Given the description of an element on the screen output the (x, y) to click on. 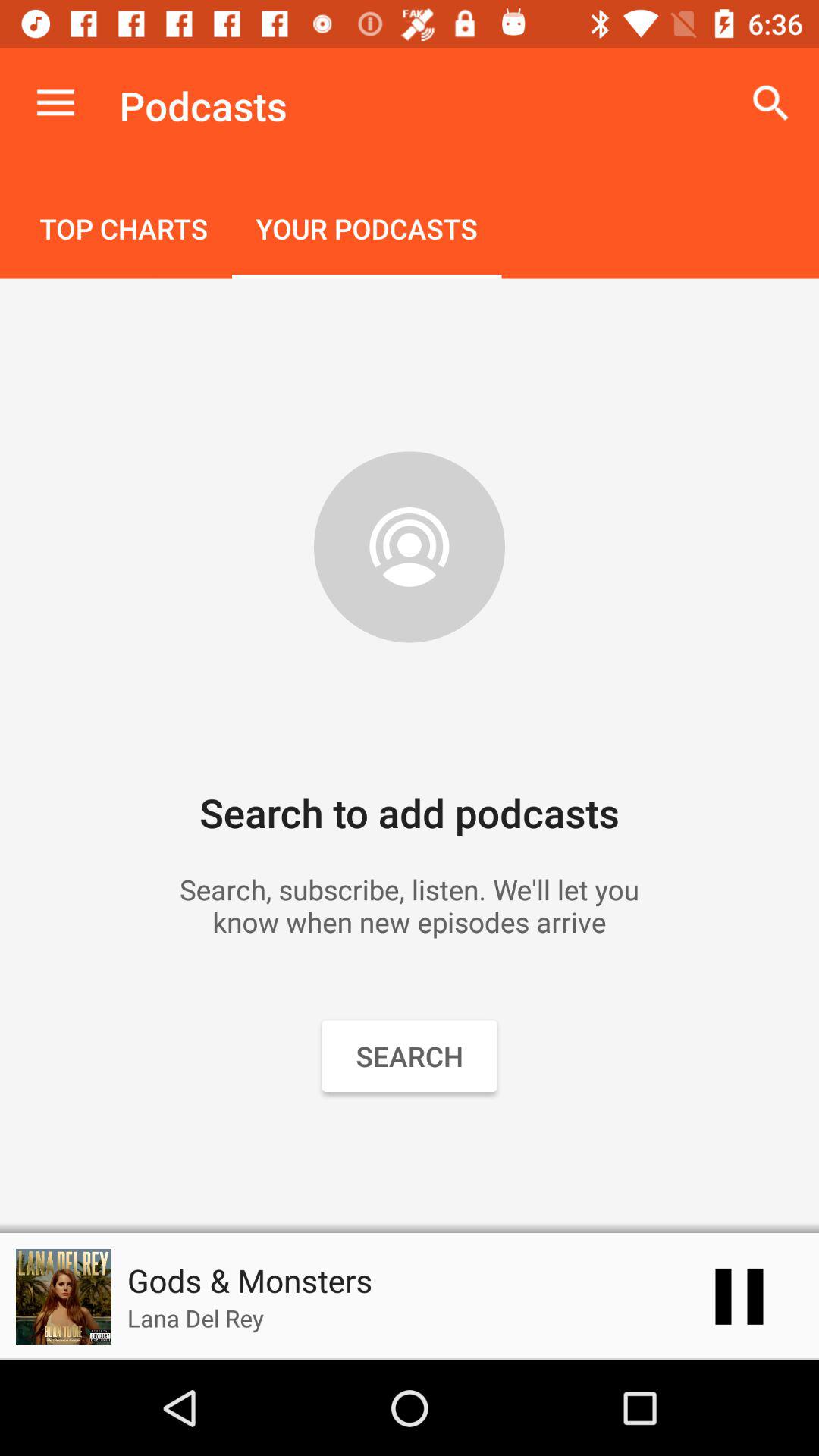
choose icon to the right of top charts (366, 230)
